Given the description of an element on the screen output the (x, y) to click on. 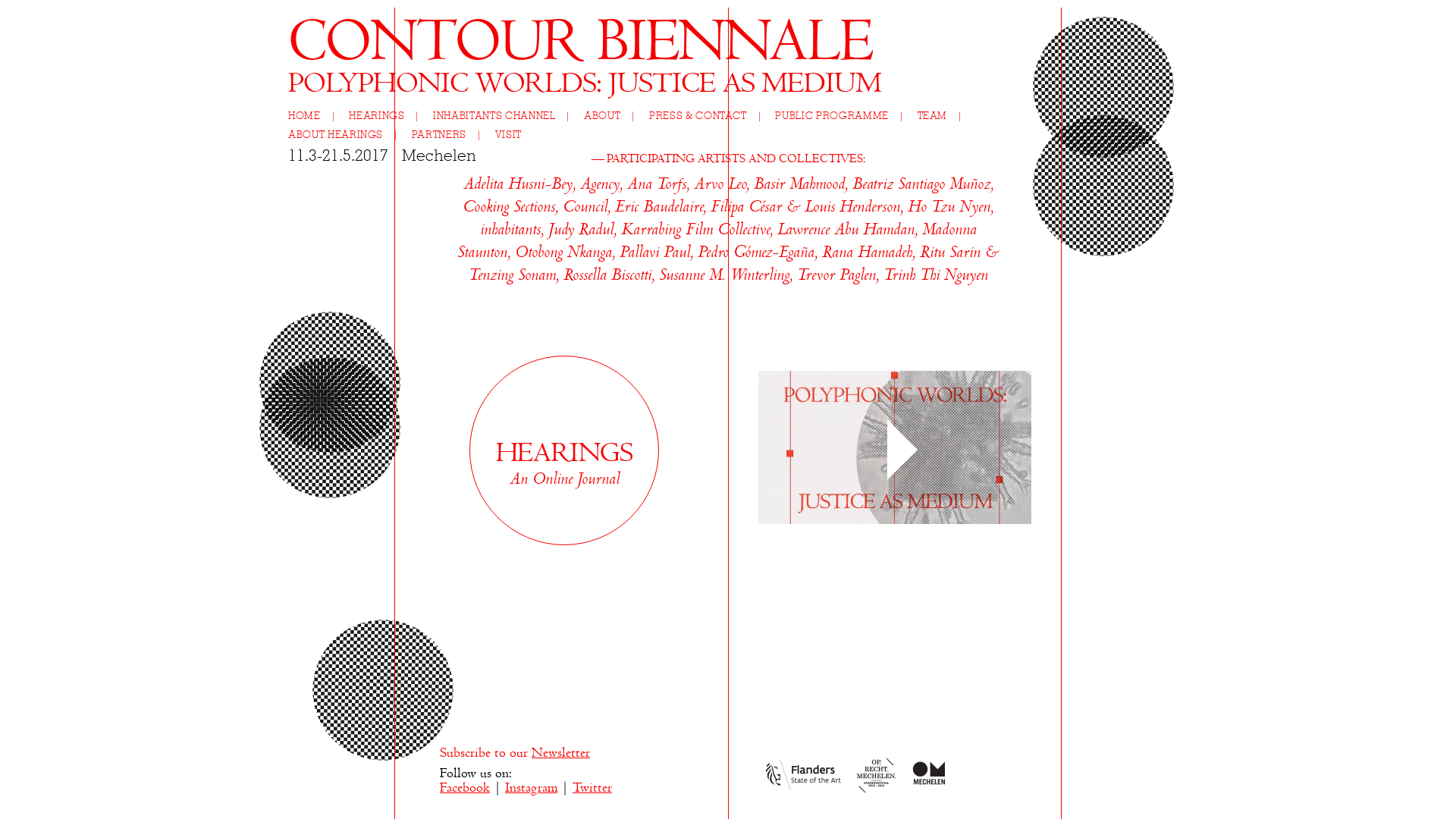
PUBLIC PROGRAMME Element type: text (844, 116)
PRESS & CONTACT Element type: text (710, 116)
ABOUT Element type: text (614, 116)
HOME Element type: text (316, 116)
VISIT Element type: text (508, 135)
Instagram Element type: text (531, 788)
An Online Journal Element type: text (564, 479)
HEARINGS Element type: text (564, 454)
HEARINGS Element type: text (388, 116)
INHABITANTS CHANNEL Element type: text (506, 116)
Twitter Element type: text (591, 788)
Newsletter Element type: text (560, 753)
PARTNERS Element type: text (451, 135)
ABOUT HEARINGS Element type: text (348, 135)
Facebook Element type: text (464, 788)
TEAM Element type: text (944, 116)
